Given the description of an element on the screen output the (x, y) to click on. 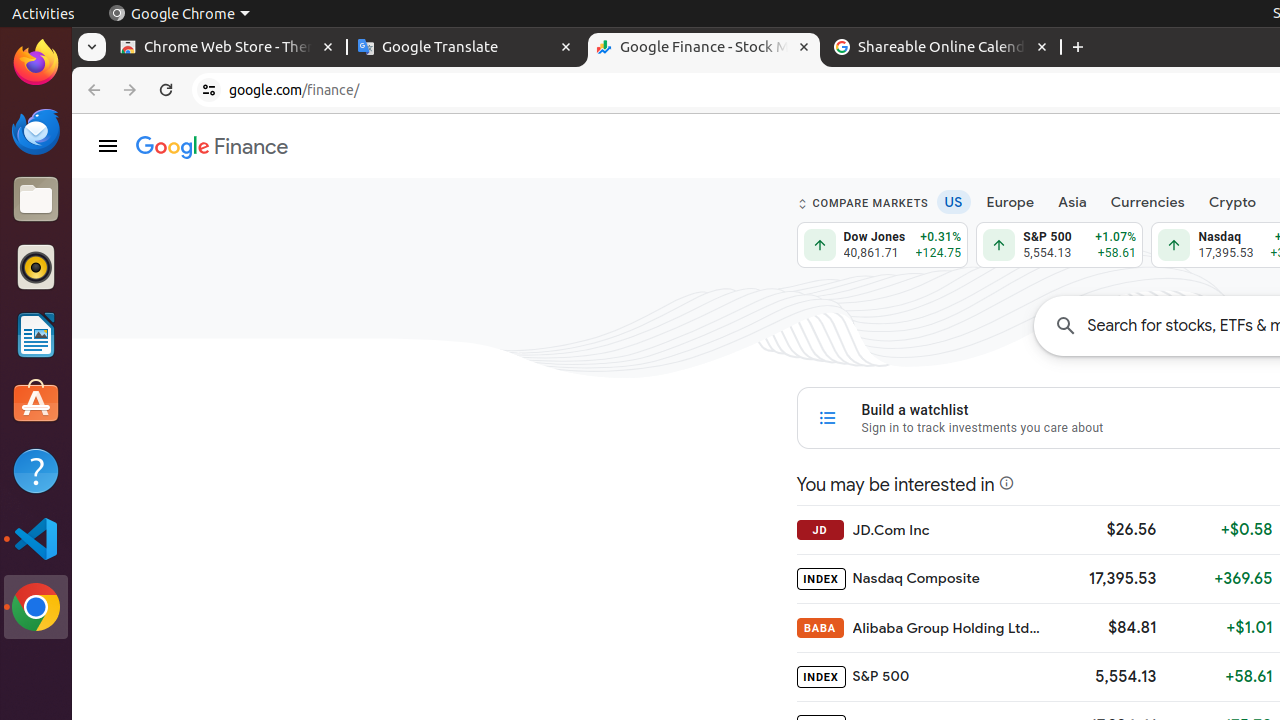
Currencies Element type: page-tab (1147, 202)
Dow Jones 40,861.71 Up by 0.31% +124.75 Element type: link (882, 245)
Google Chrome Element type: menu (179, 13)
